Given the description of an element on the screen output the (x, y) to click on. 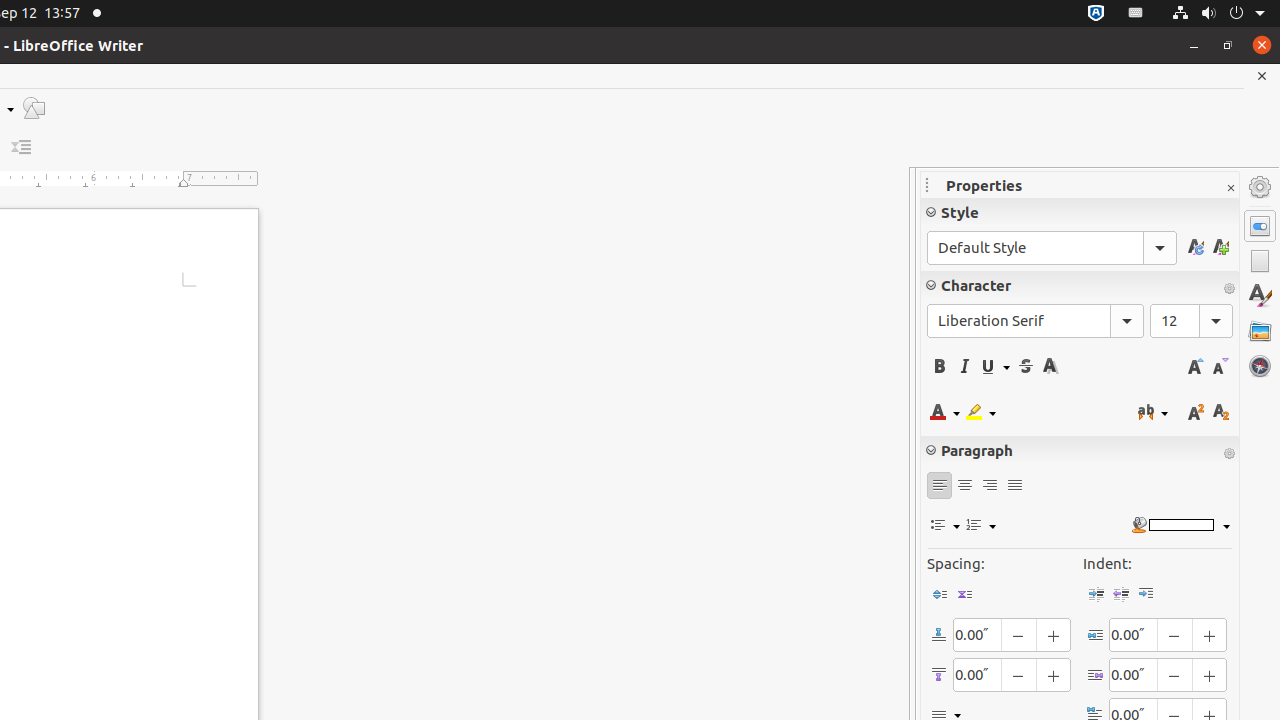
:1.21/StatusNotifierItem Element type: menu (1136, 13)
Navigator Element type: radio-button (1260, 366)
Draw Functions Element type: toggle-button (33, 108)
Close Sidebar Deck Element type: push-button (1230, 188)
Page Element type: radio-button (1260, 261)
